Given the description of an element on the screen output the (x, y) to click on. 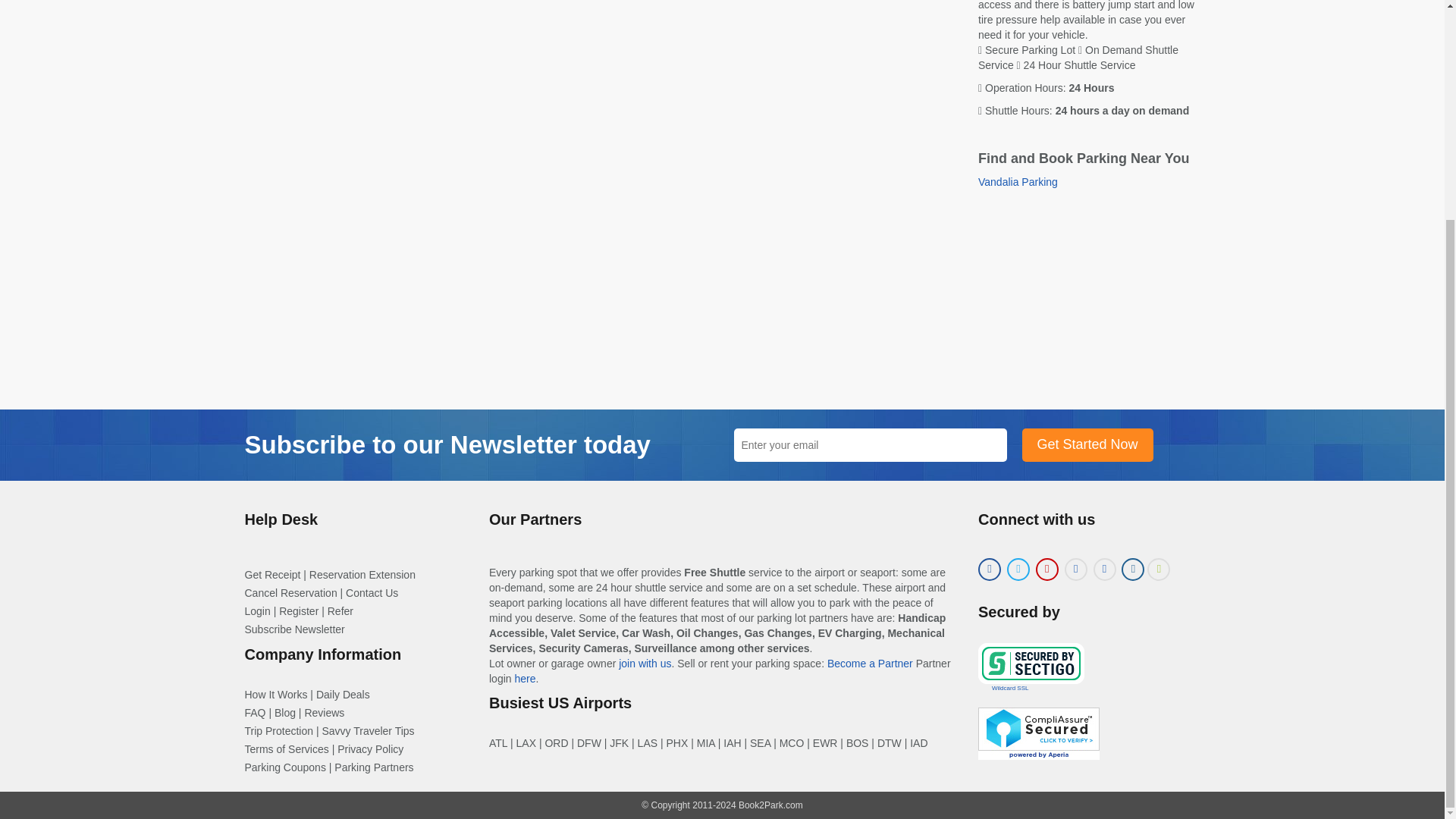
CHICAGO O'HARE INTERNATIONAL AIRPORT (555, 743)
WASHINGTON DULLES INTERNATIONAL LONG TERM AIRPORT PARKING (918, 743)
Register (298, 611)
Contact Us (371, 592)
JOHN F. KENNEDY INTERNATIONAL AIRPORT (619, 743)
LOS ANGELES INTERNATIONAL LONG TERM AIRPORT PARKING (525, 743)
How It Works (275, 694)
Cancel Reservation (290, 592)
LOGAN INTERNATIONAL AIRPORT (857, 743)
ORLANDO INTERNATIONAL AIRPORT PARKING (791, 743)
Vandalia Parking (1018, 182)
Daily Deals (342, 694)
Get Receipt (271, 574)
LAS VEGAS MCCARRAN INTERNATIONAL LONG TERM AIRPORT PARKING (647, 743)
Reviews (323, 712)
